Given the description of an element on the screen output the (x, y) to click on. 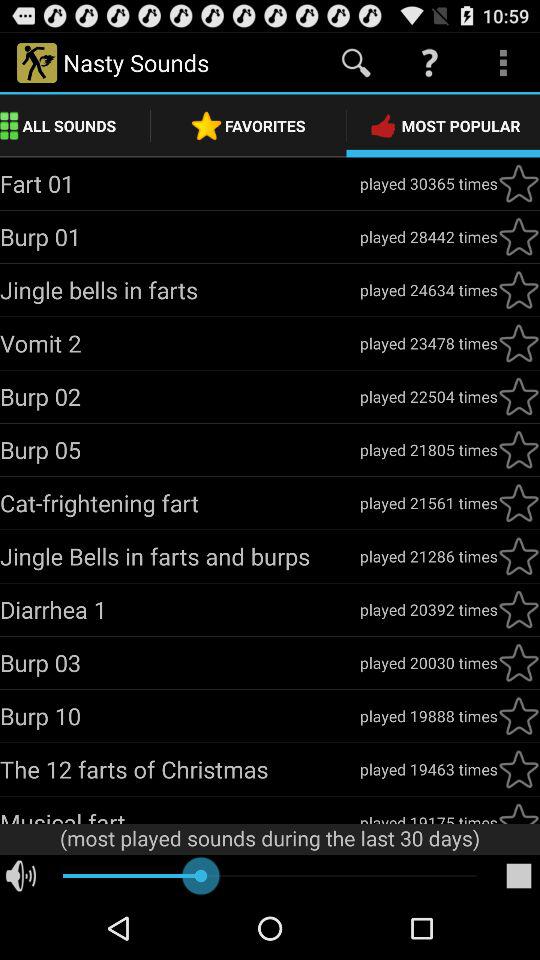
click a favorite (519, 663)
